Given the description of an element on the screen output the (x, y) to click on. 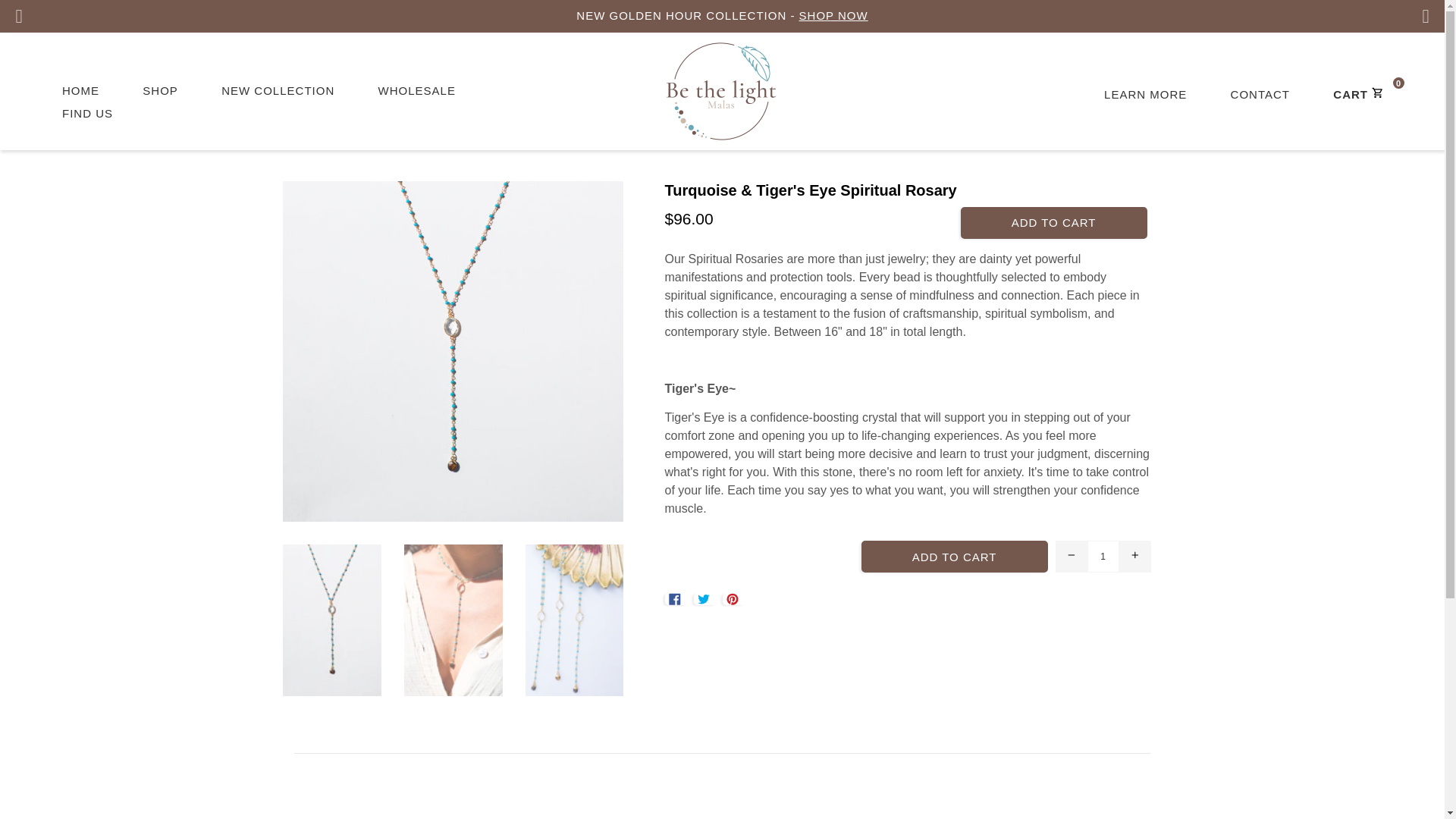
NEW GOLDEN HOUR COLLECTION - SHOP NOW (722, 16)
Share on Facebook (675, 598)
1 (1103, 556)
Pin on Pinterest (733, 598)
NEWEST CART ICON CREATED WITH SKETCH. (1374, 92)
Tweet on Twitter (705, 598)
